Given the description of an element on the screen output the (x, y) to click on. 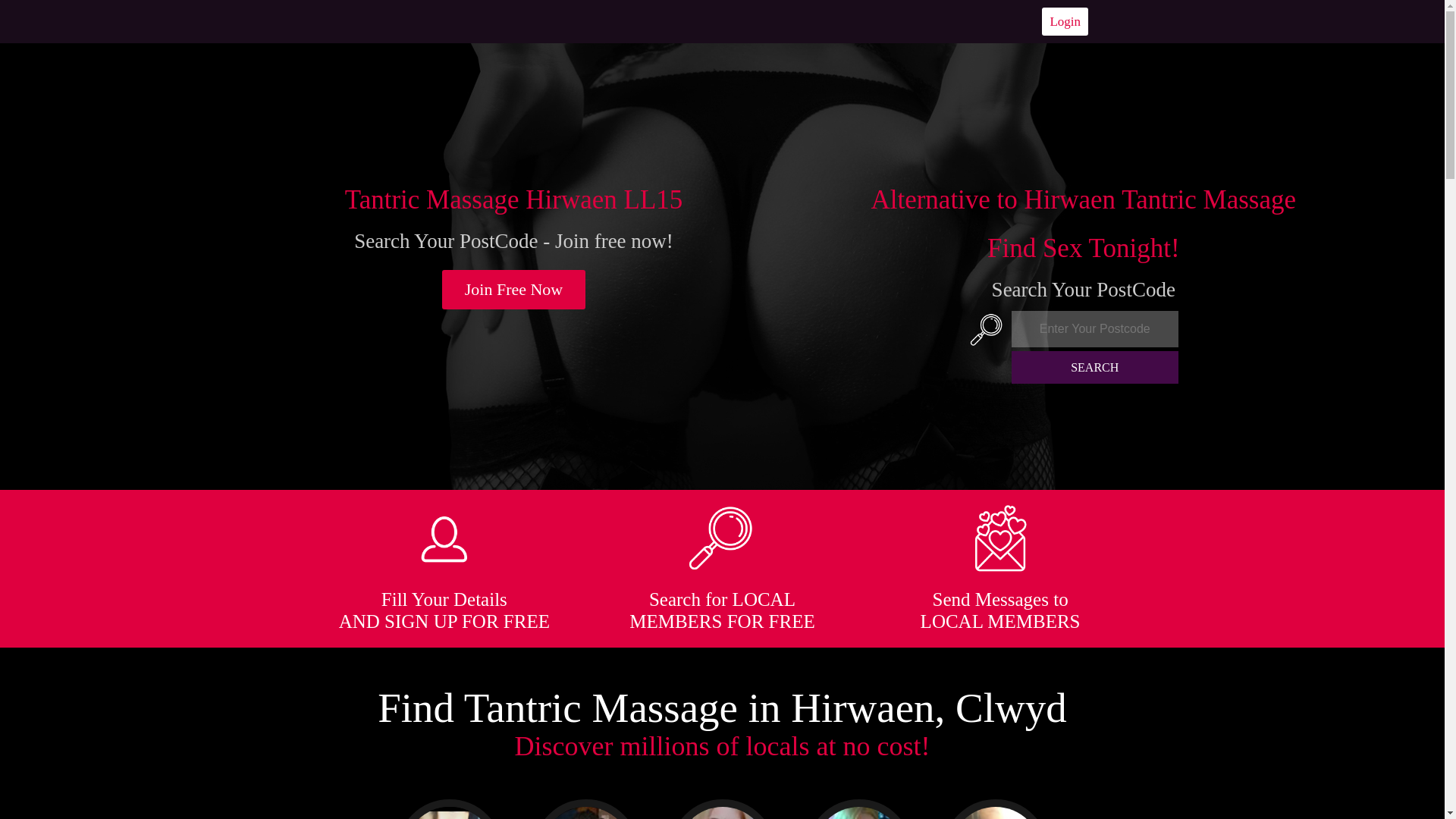
SEARCH (1094, 367)
Join (514, 289)
Login (1064, 21)
Join Free Now (514, 289)
Login (1064, 21)
